Given the description of an element on the screen output the (x, y) to click on. 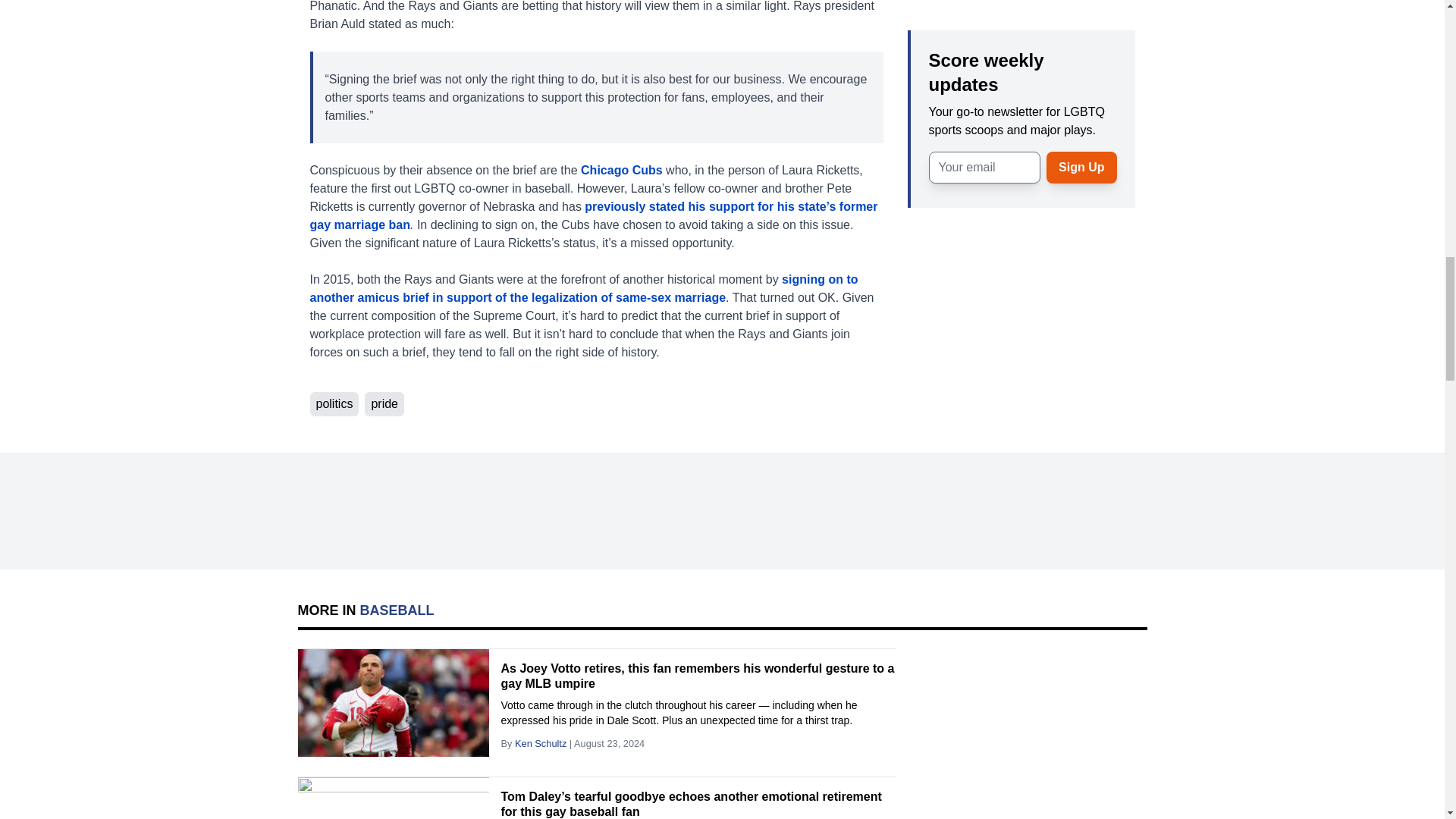
Chicago Cubs (621, 169)
pride (384, 404)
politics (333, 404)
